Given the description of an element on the screen output the (x, y) to click on. 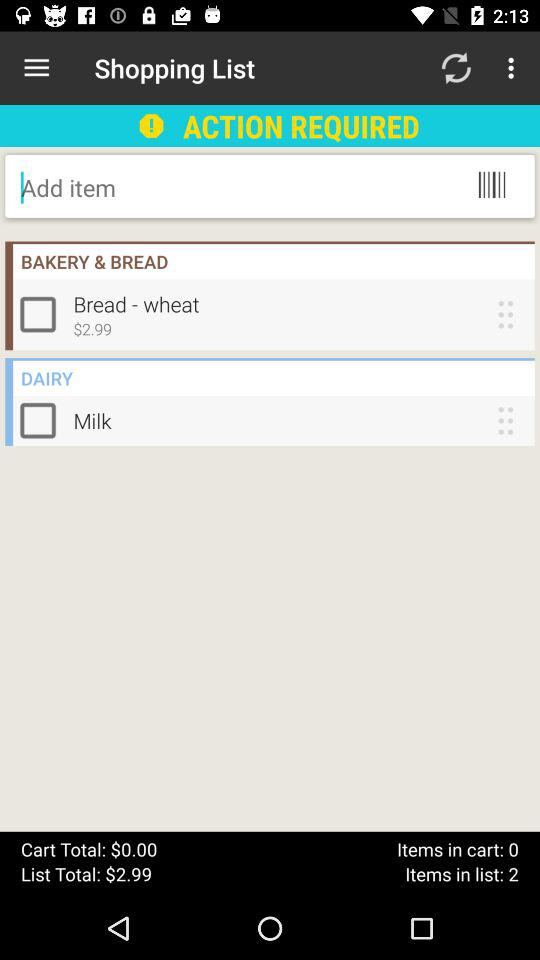
select item next to action required item (455, 67)
